Given the description of an element on the screen output the (x, y) to click on. 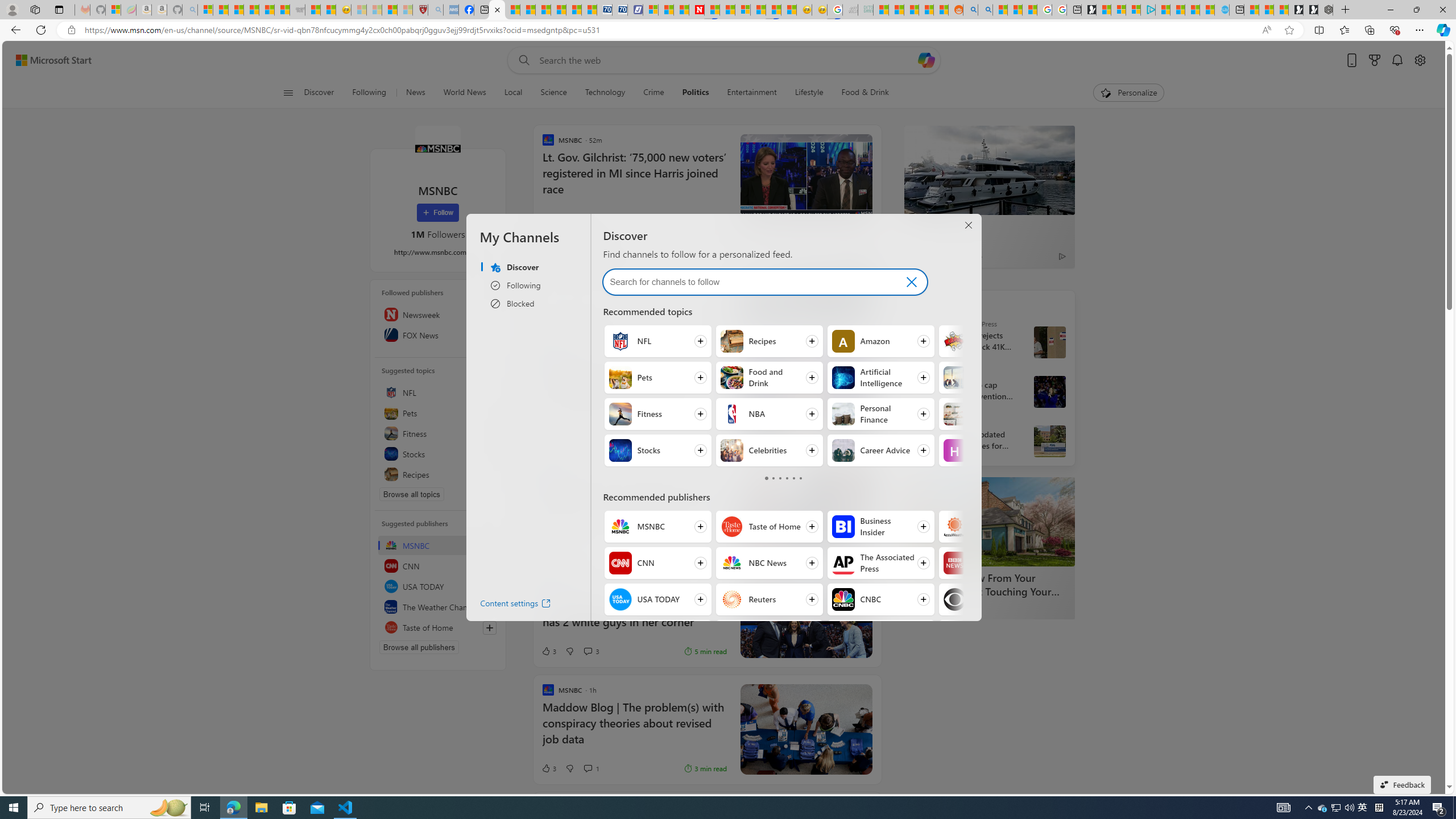
MSNBC - MSN (880, 9)
World News (464, 92)
Follow Business Insider (880, 526)
Recipes (437, 474)
Recipes (732, 341)
Taste of Home (732, 526)
Business Insider (842, 526)
Follow Celebrities (768, 450)
list of asthma inhalers uk - Search - Sleeping (435, 9)
Fix Boat Bliss (805, 286)
